Given the description of an element on the screen output the (x, y) to click on. 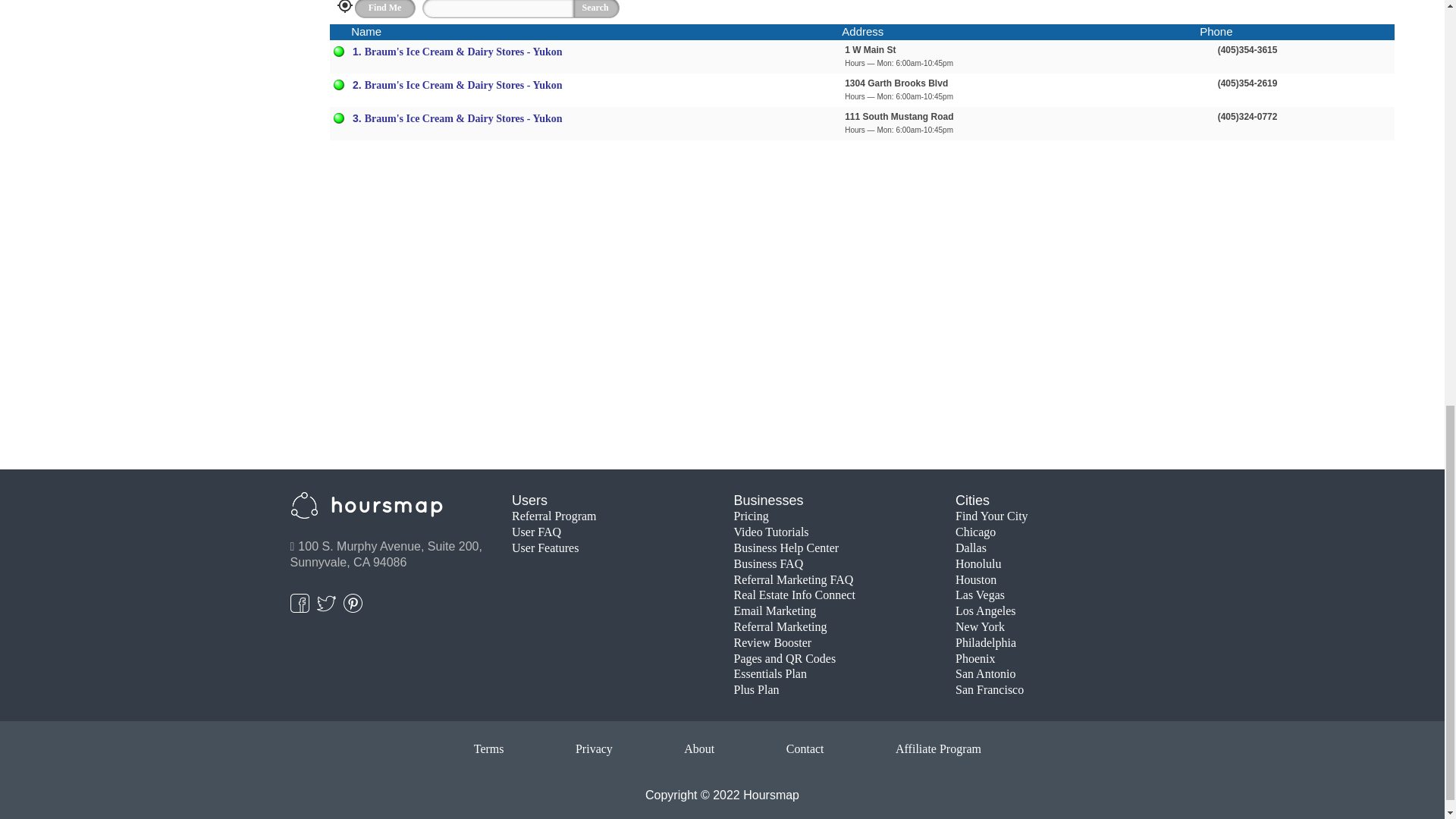
Find Me (384, 9)
 Search (596, 9)
